Given the description of an element on the screen output the (x, y) to click on. 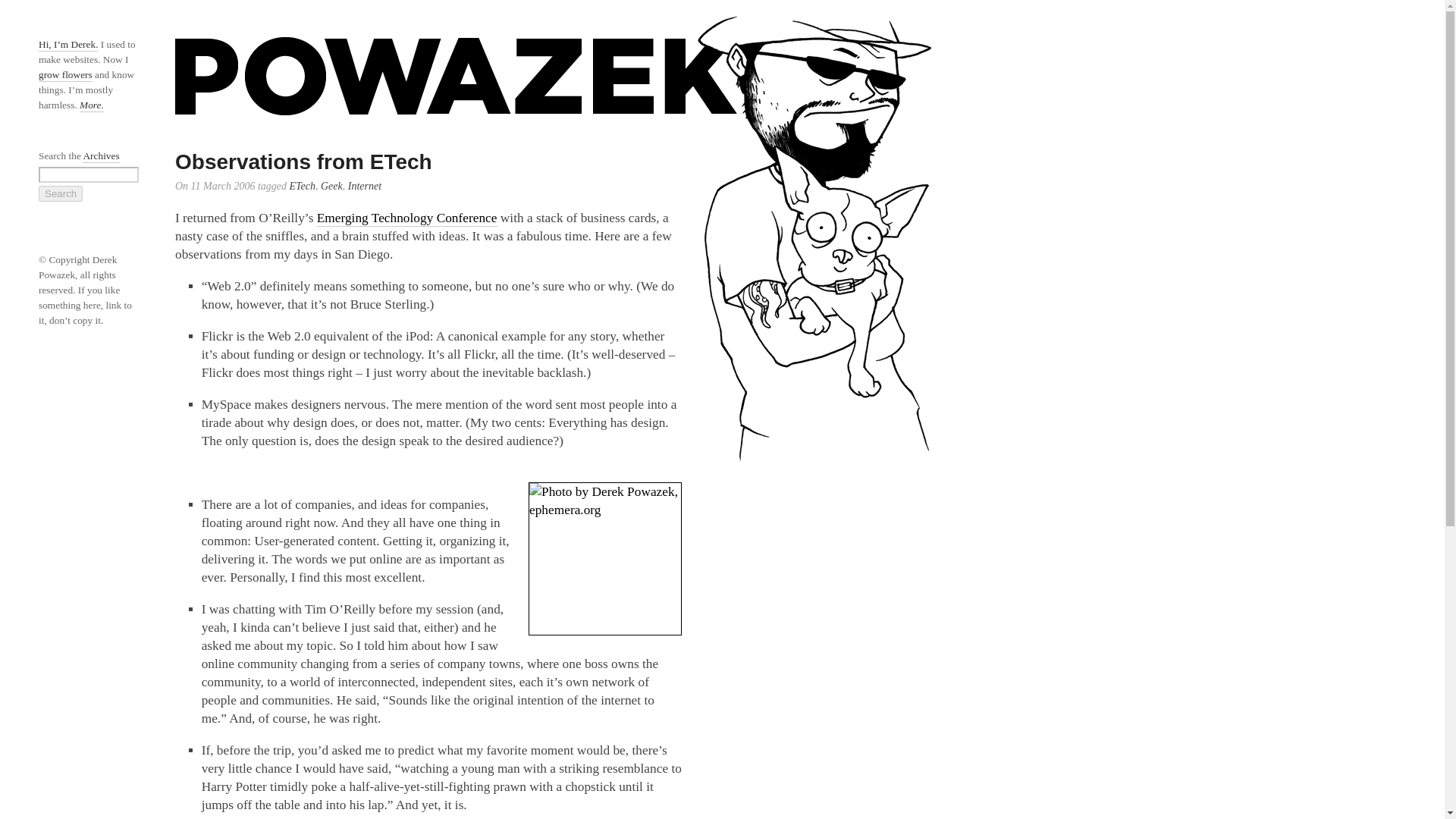
grow flowers (66, 74)
More. (91, 105)
Internet (364, 186)
Archives (100, 155)
Search (60, 193)
Emerging Technology Conference (407, 218)
ETech (301, 186)
Search (60, 193)
Photo by Derek Powazek, ephemera.org (604, 558)
Geek (331, 186)
